Given the description of an element on the screen output the (x, y) to click on. 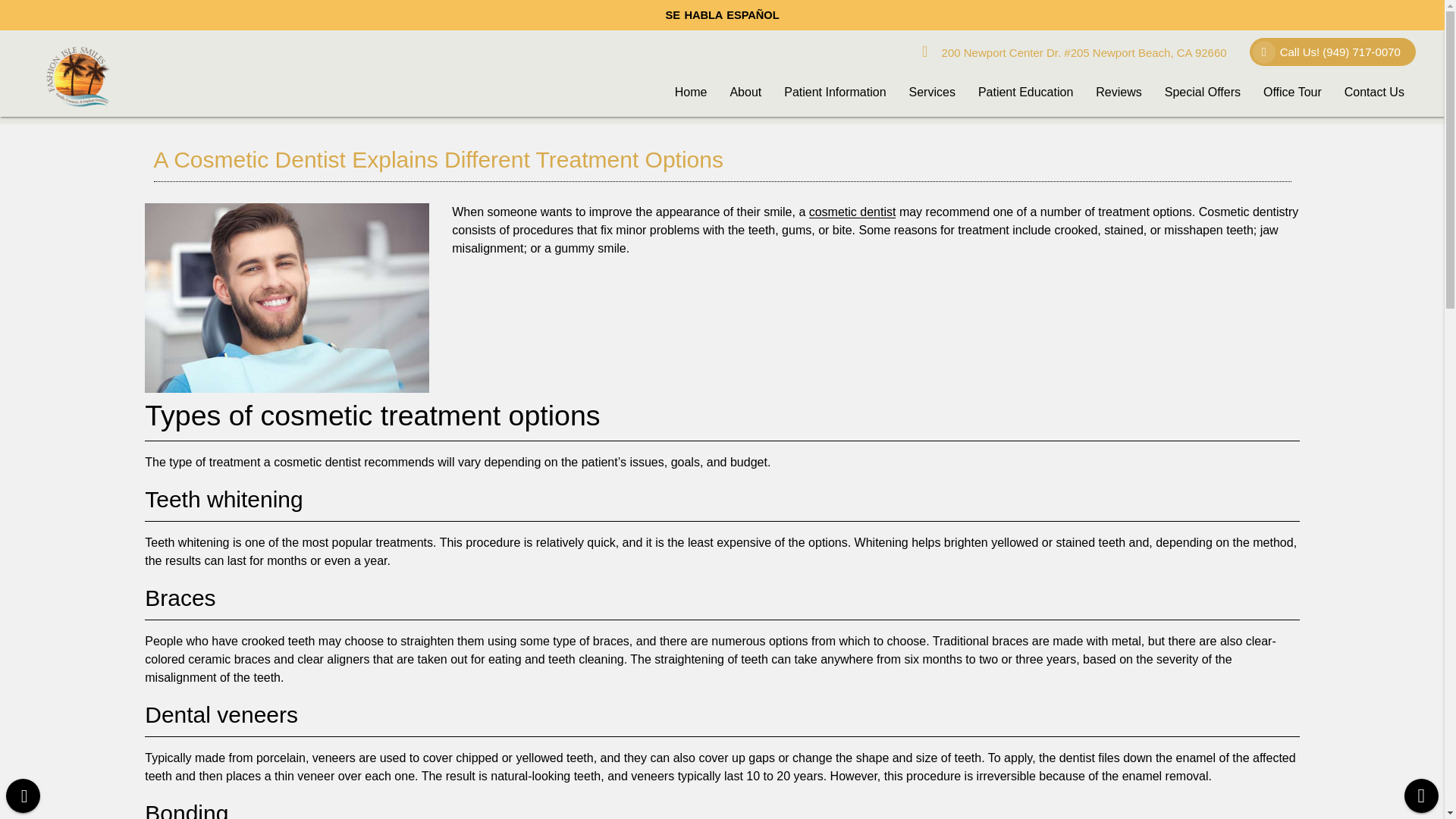
Visit our About Our Practice page (745, 92)
Visit our Home page (691, 92)
Visit our Patient Information page (834, 92)
Home (691, 92)
Patient Information (834, 92)
About (745, 92)
Patient Education (1025, 92)
Services (932, 92)
Directions to Fashion Isle Smiles (1074, 52)
Services Navigation (932, 92)
